Given the description of an element on the screen output the (x, y) to click on. 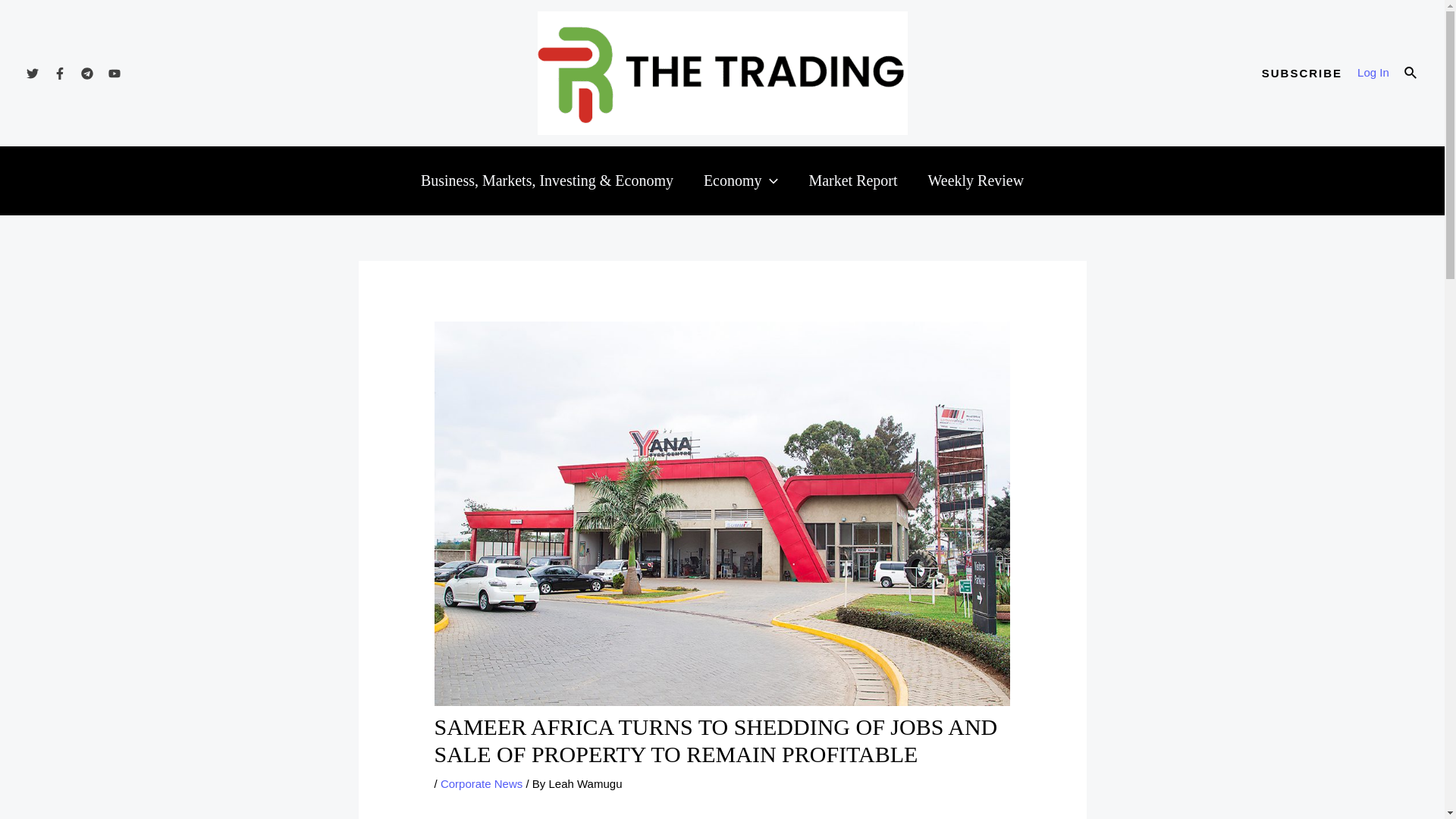
Market Report (852, 180)
Corporate News (481, 783)
SUBSCRIBE (1302, 72)
Log In (1372, 72)
Weekly Review (975, 180)
Leah Wamugu (584, 783)
Economy (740, 180)
View all posts by Leah Wamugu (584, 783)
